Given the description of an element on the screen output the (x, y) to click on. 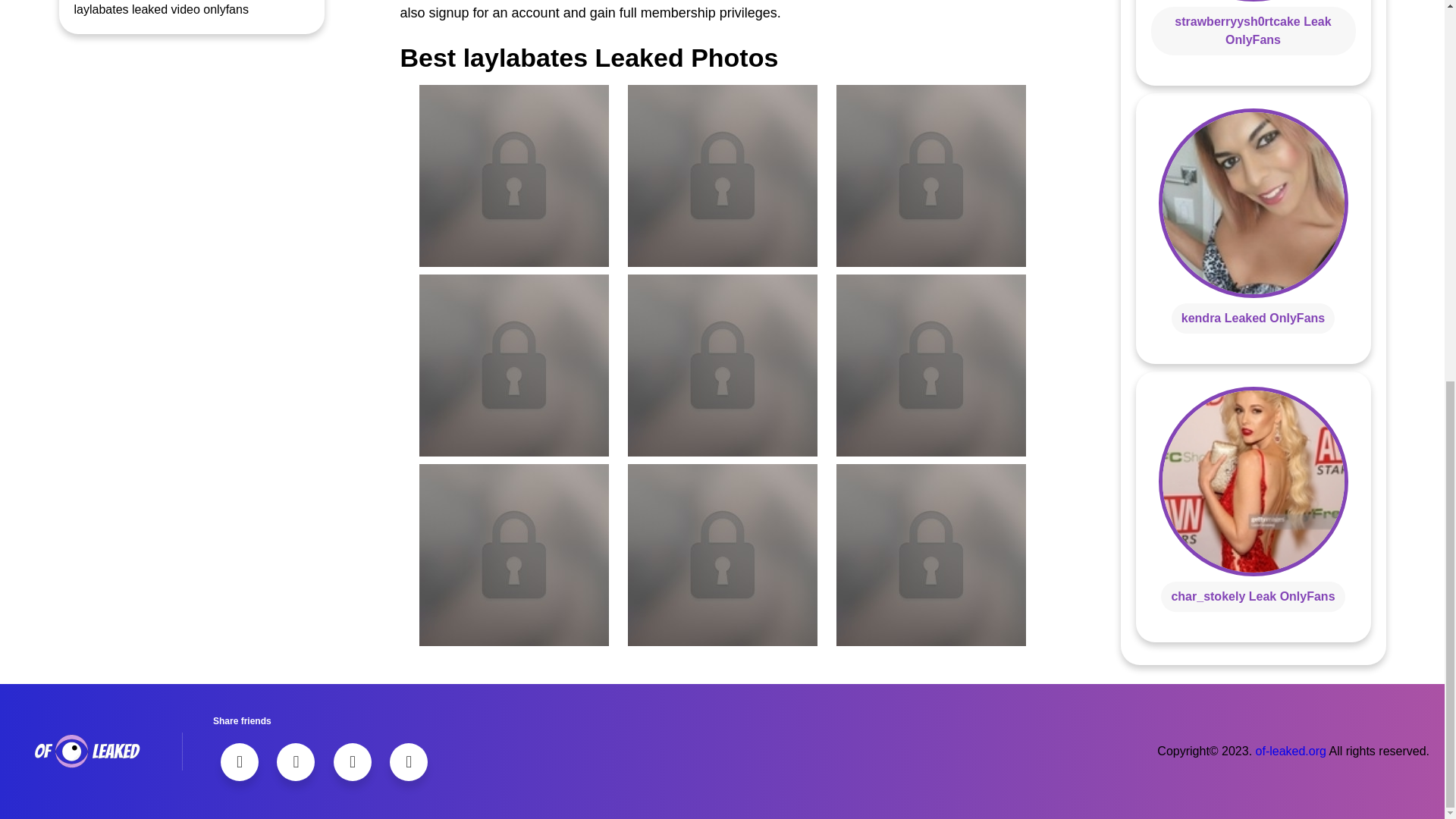
of-leaked.org (1290, 750)
strawberryysh0rtcake Leak OnlyFans (1252, 30)
kendra Leaked OnlyFans (1252, 317)
